Given the description of an element on the screen output the (x, y) to click on. 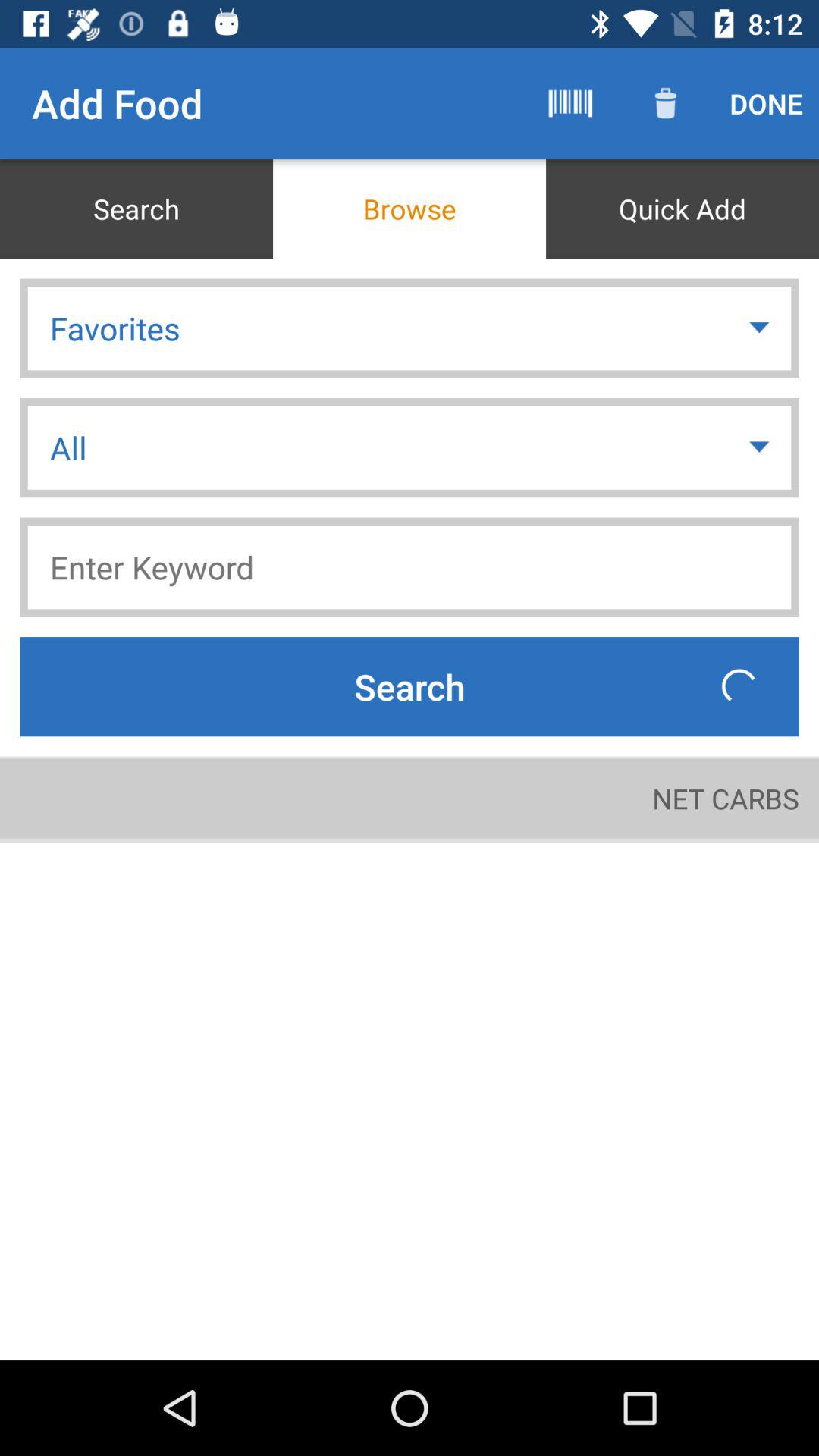
choose all item (409, 447)
